Given the description of an element on the screen output the (x, y) to click on. 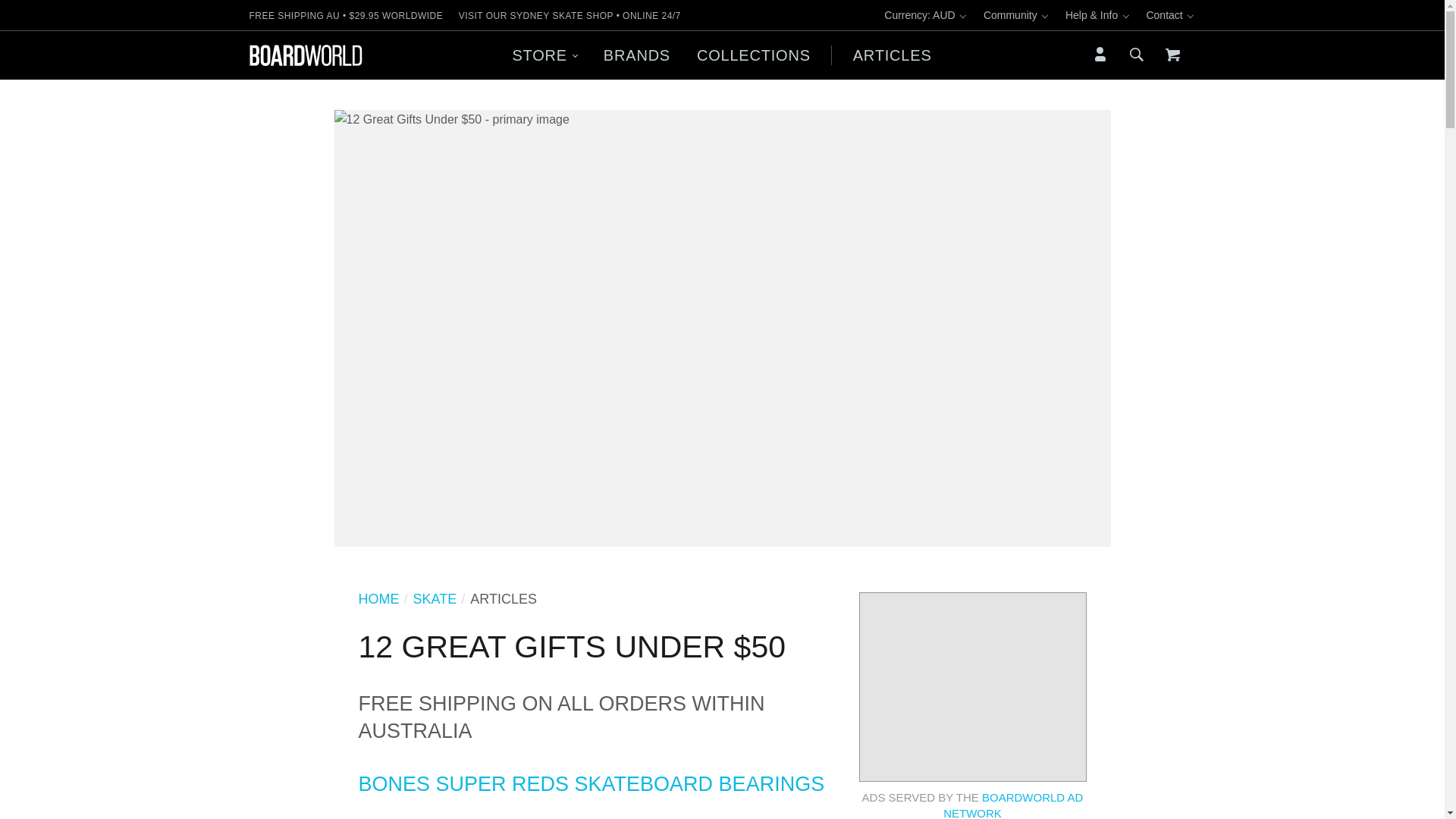
BRANDS (635, 55)
Your Cart (1172, 55)
COLLECTIONS (753, 55)
Currency: AUD (925, 14)
ARTICLES (892, 55)
Community (1016, 14)
STORE (544, 55)
Contact (1170, 14)
